Given the description of an element on the screen output the (x, y) to click on. 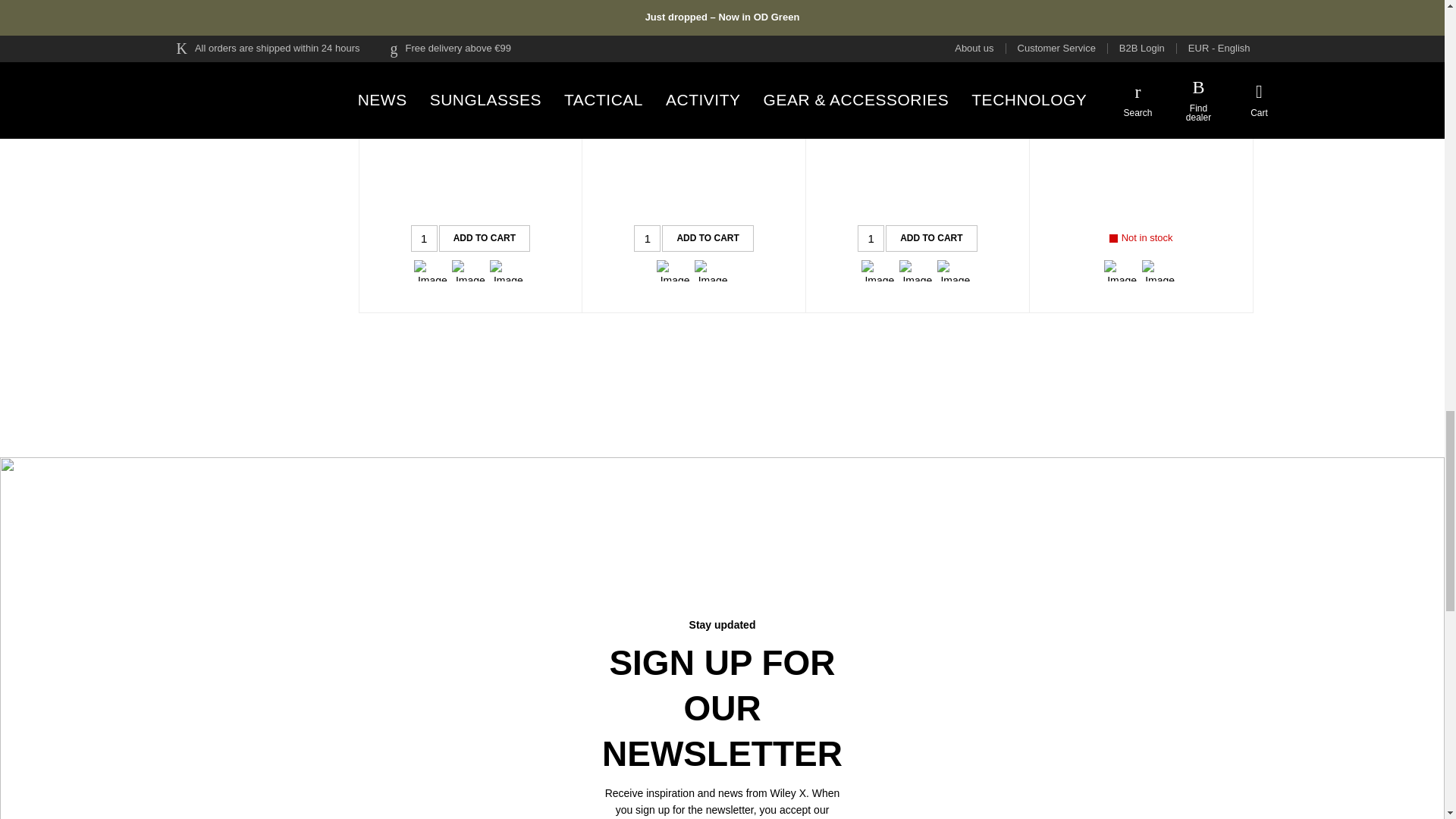
1 (647, 238)
1 (870, 238)
1 (424, 238)
